Given the description of an element on the screen output the (x, y) to click on. 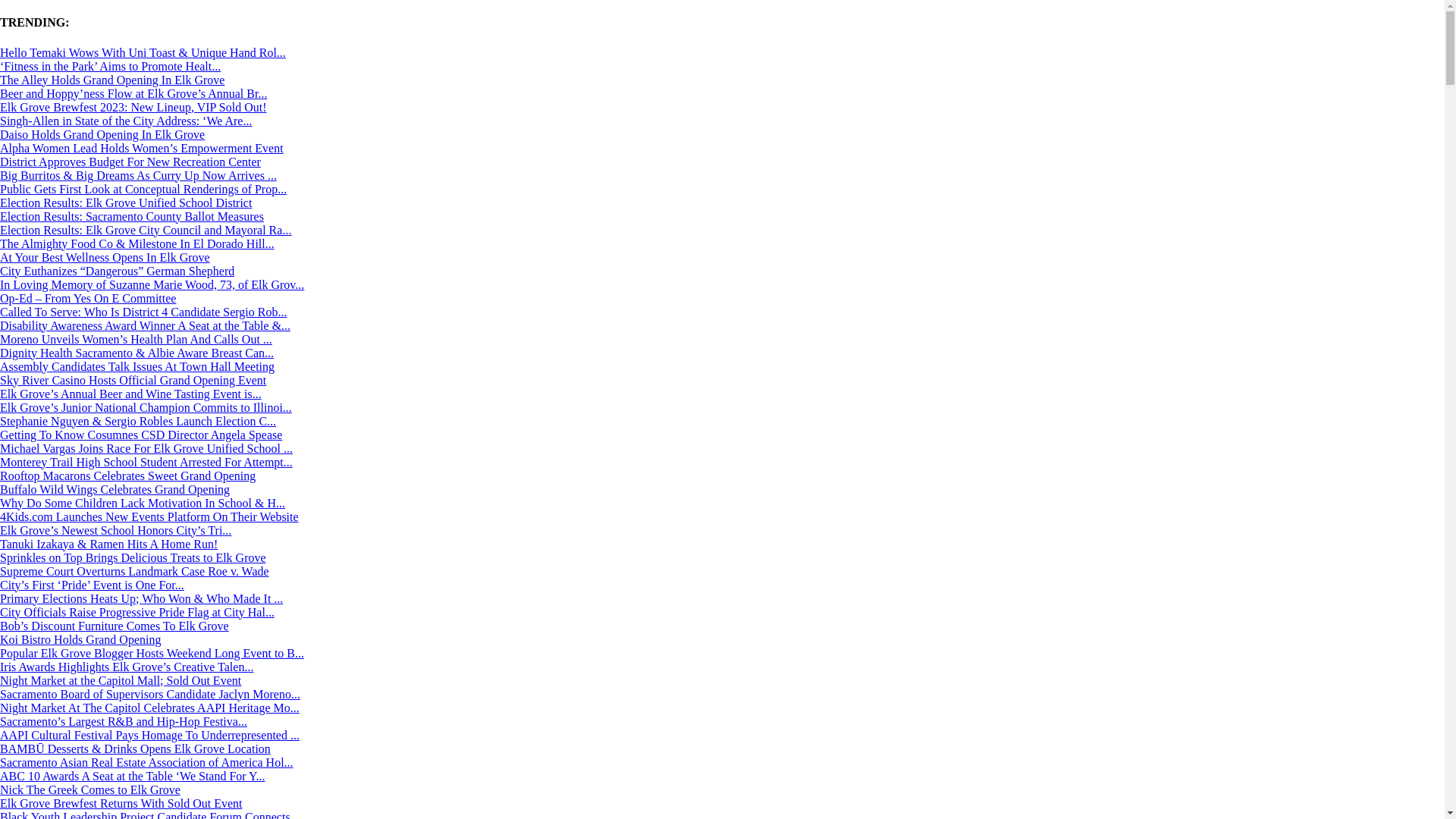
Election Results: Elk Grove Unified School District (125, 202)
4Kids.com Launches New Events Platform On Their Website (149, 516)
Getting To Know Cosumnes CSD Director Angela Spease (141, 434)
Daiso Holds Grand Opening In Elk Grove (102, 133)
Rooftop Macarons Celebrates Sweet Grand Opening (128, 475)
In Loving Memory of Suzanne Marie Wood, 73, of Elk Grov... (152, 284)
Public Gets First Look at Conceptual Renderings of Prop... (143, 188)
District Approves Budget For New Recreation Center (130, 161)
At Your Best Wellness Opens In Elk Grove (104, 256)
Elk Grove Brewfest 2023: New Lineup, VIP Sold Out! (133, 106)
Election Results: Sacramento County Ballot Measures (131, 215)
Supreme Court Overturns Landmark Case Roe v. Wade (134, 571)
Called To Serve: Who Is District 4 Candidate Sergio Rob... (143, 311)
Sky River Casino Hosts Official Grand Opening Event (133, 379)
Assembly Candidates Talk Issues At Town Hall Meeting (137, 366)
